Given the description of an element on the screen output the (x, y) to click on. 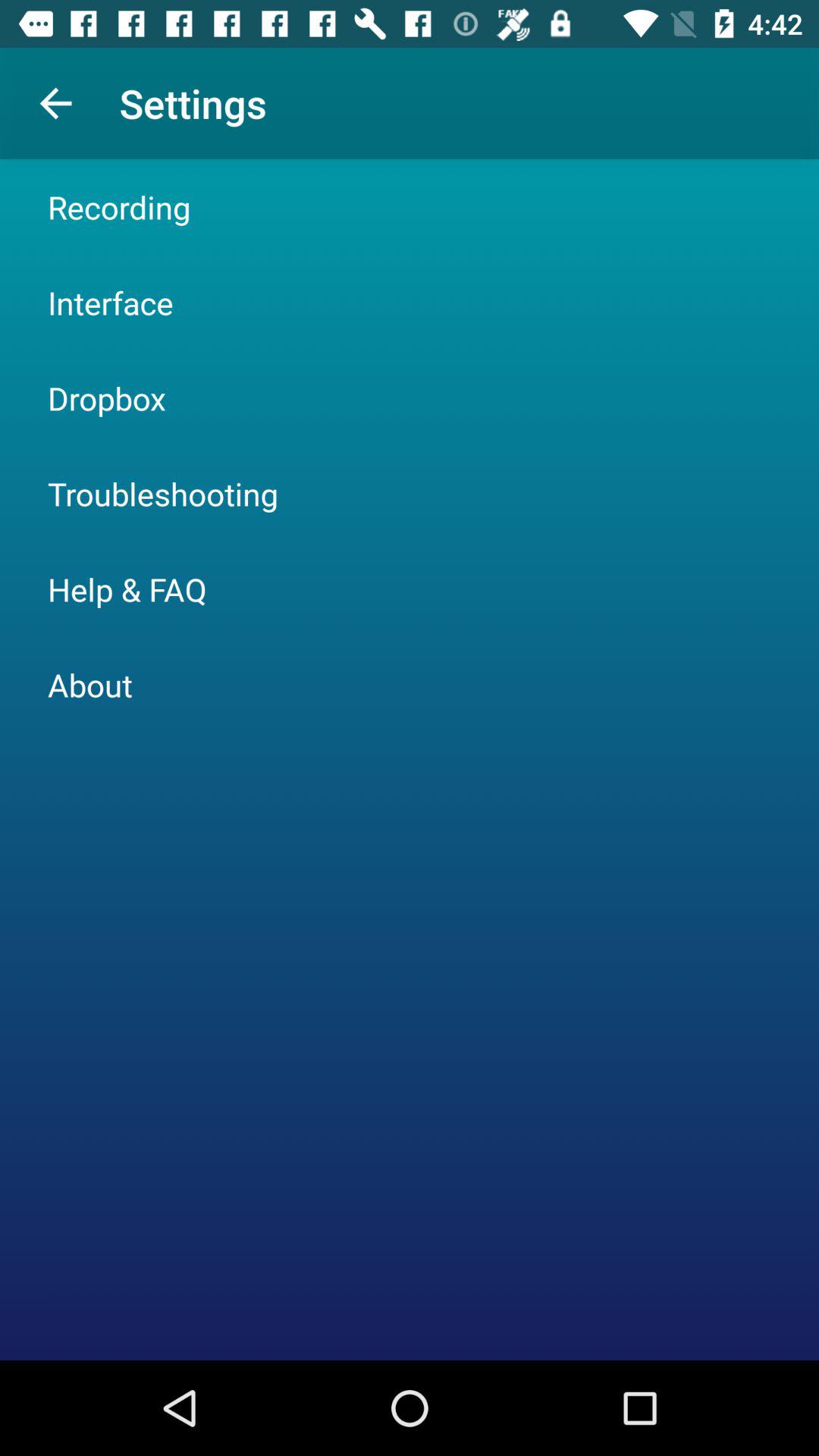
tap the icon above dropbox icon (110, 302)
